Given the description of an element on the screen output the (x, y) to click on. 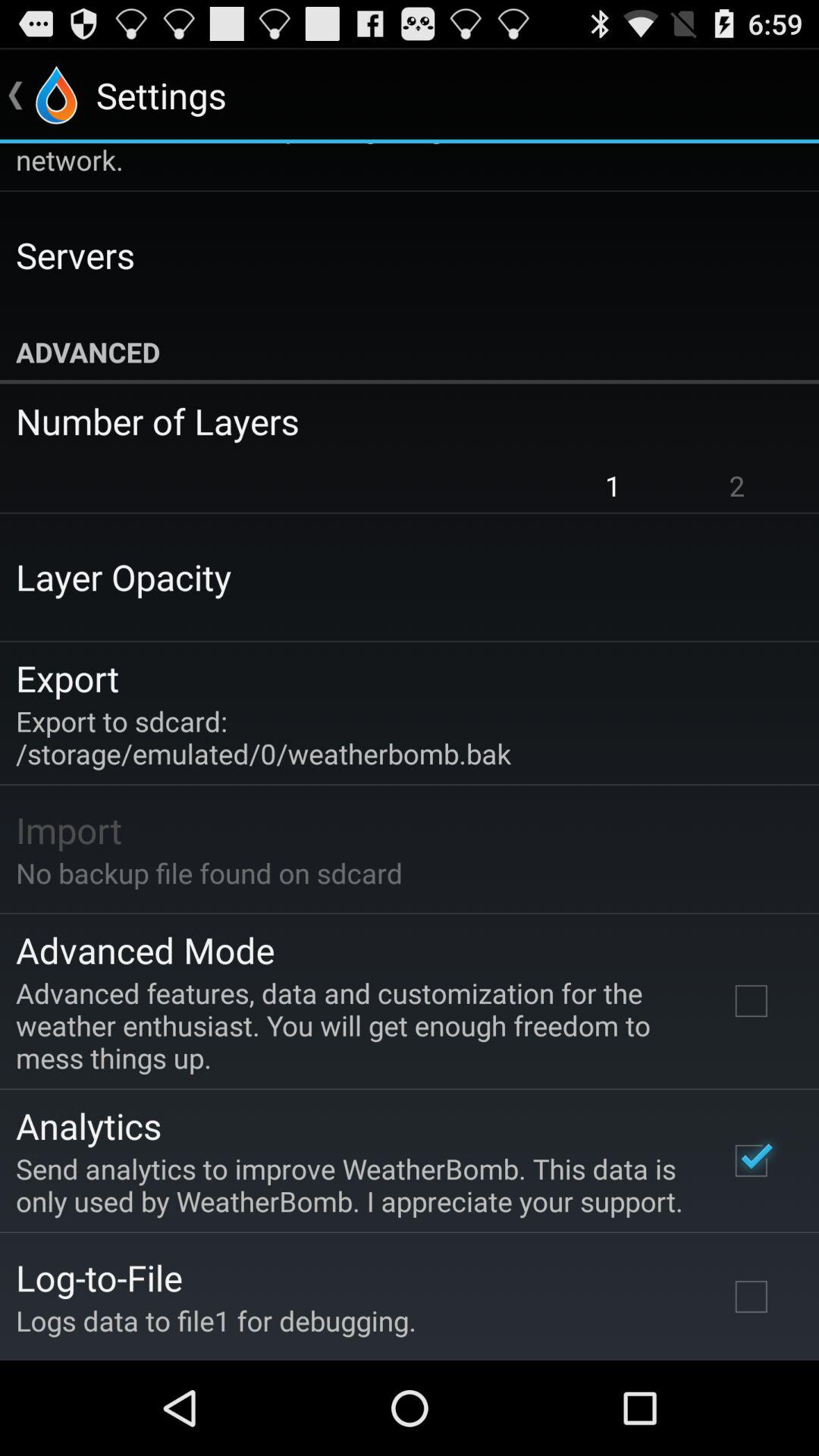
open default action when item (399, 160)
